Given the description of an element on the screen output the (x, y) to click on. 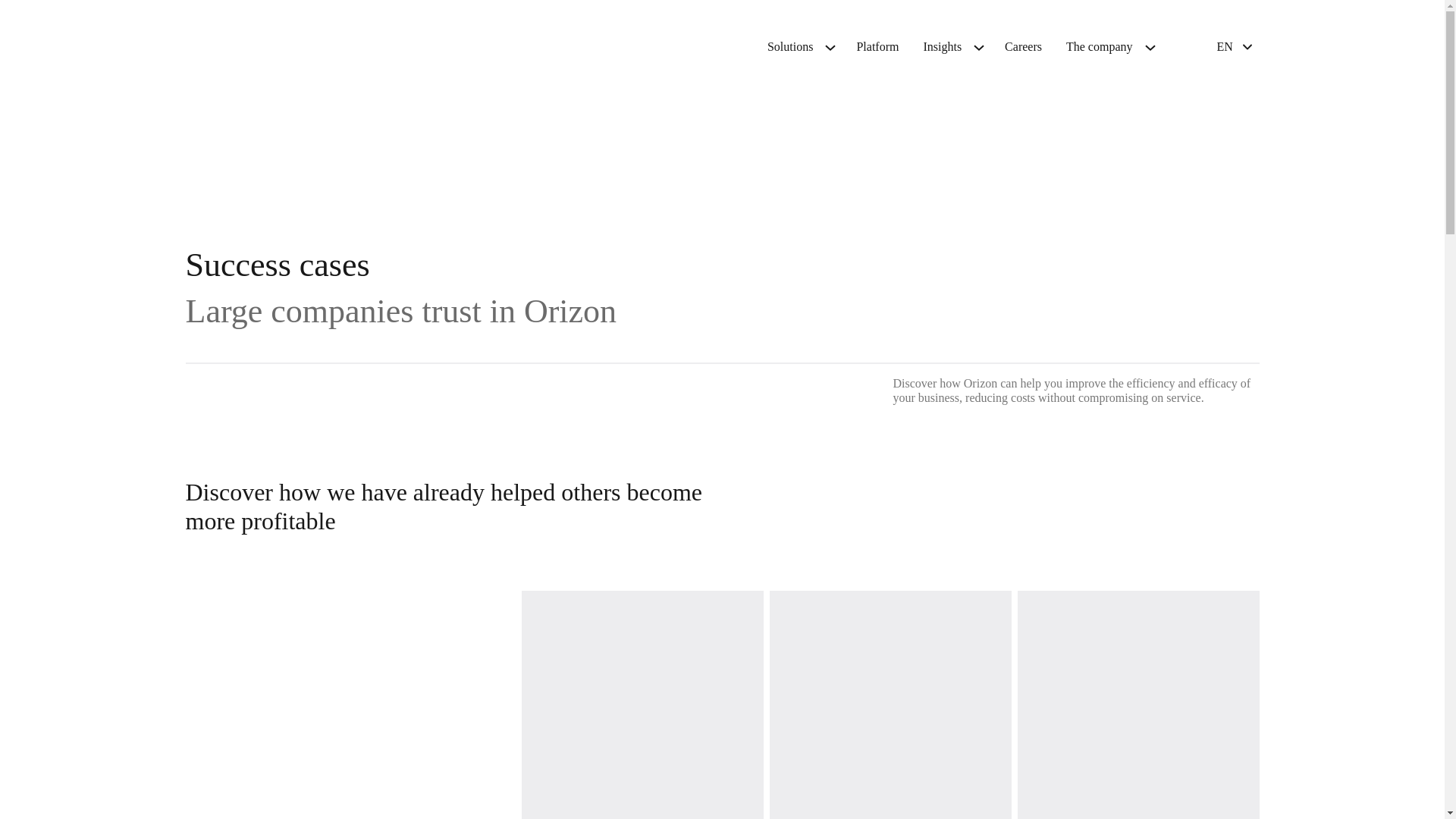
Careers (1023, 47)
The company (1099, 47)
Insights (942, 47)
Solutions (790, 47)
Platform (877, 47)
